Given the description of an element on the screen output the (x, y) to click on. 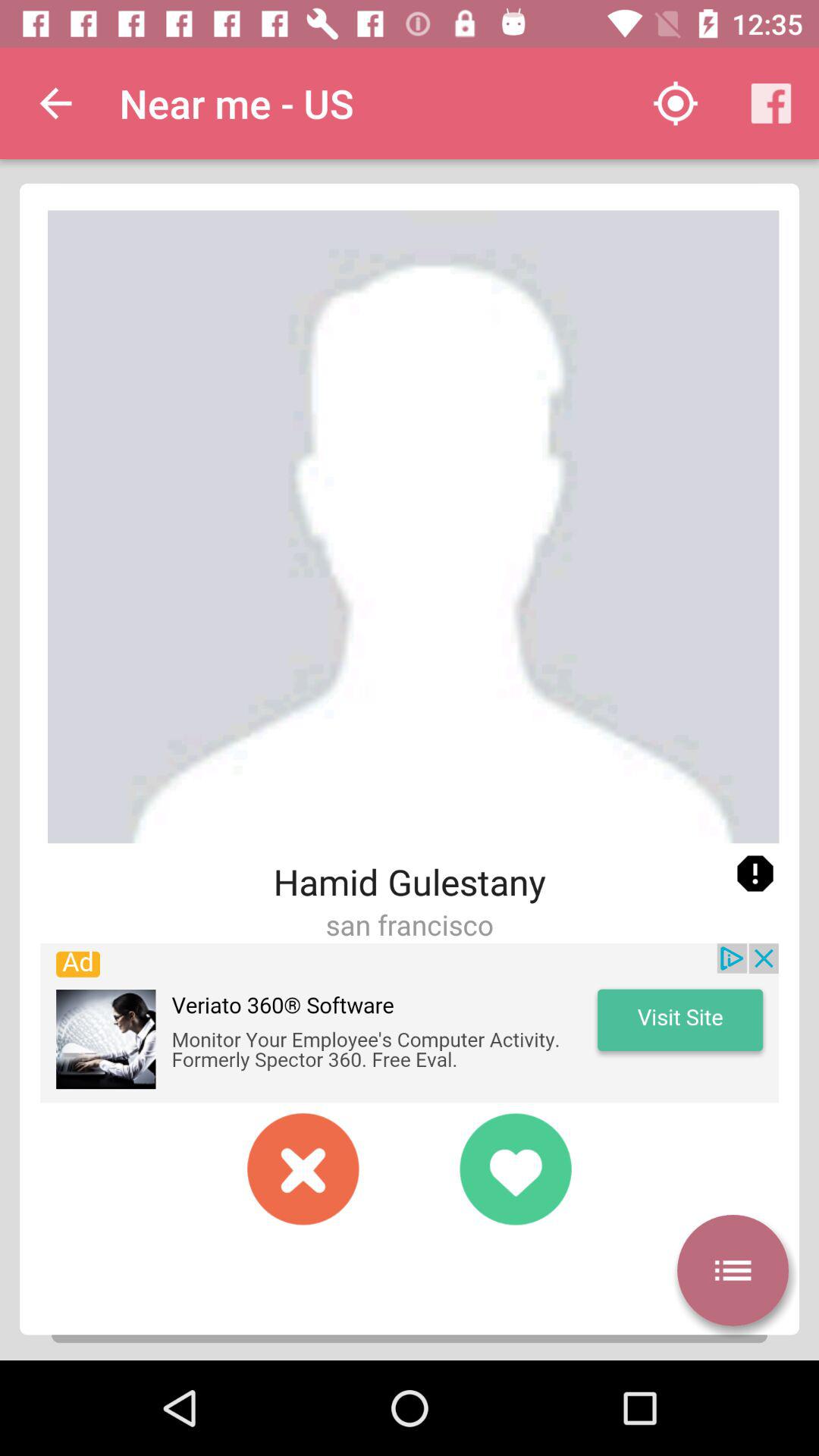
report profile (755, 873)
